Given the description of an element on the screen output the (x, y) to click on. 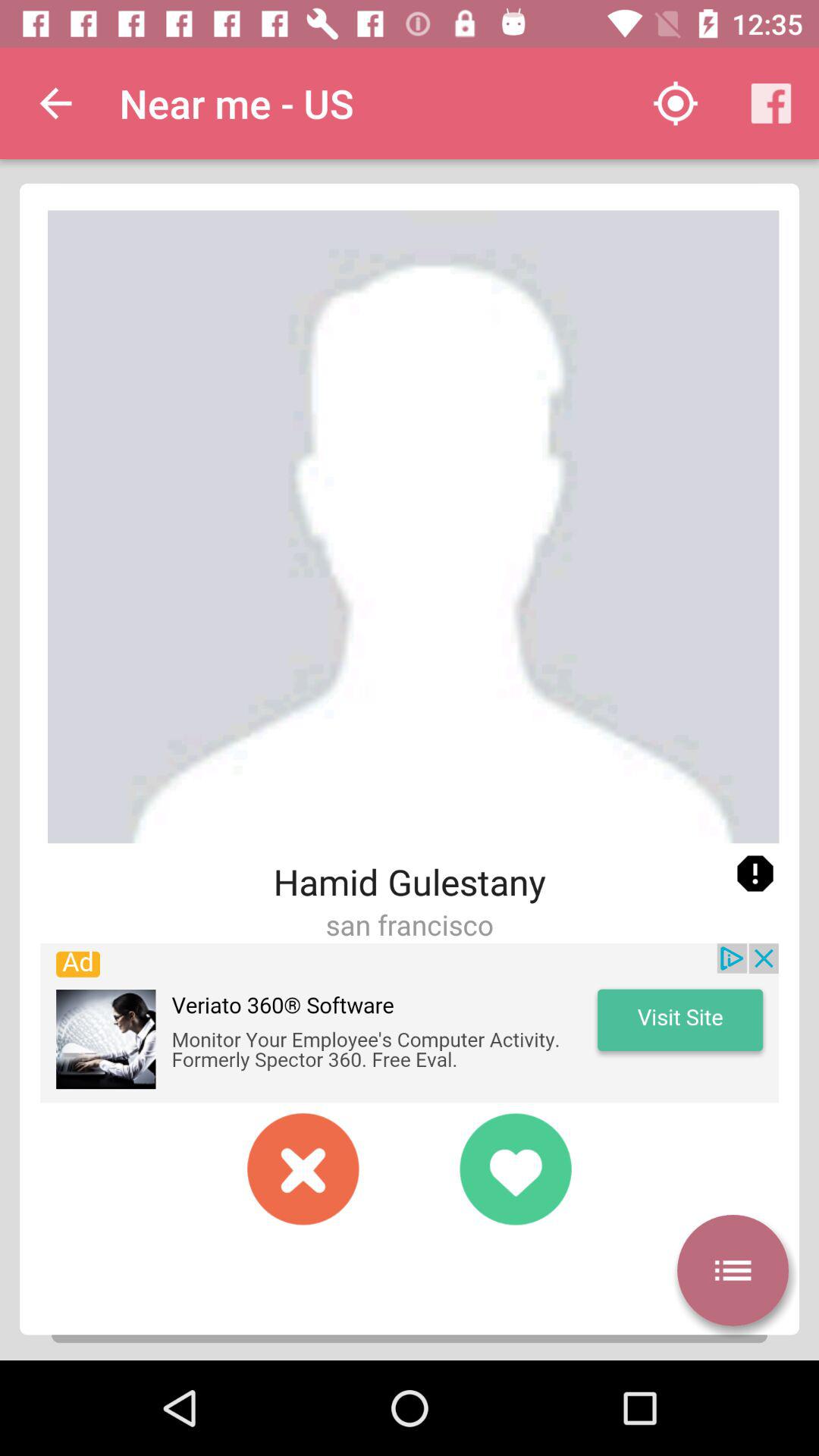
report profile (755, 873)
